Given the description of an element on the screen output the (x, y) to click on. 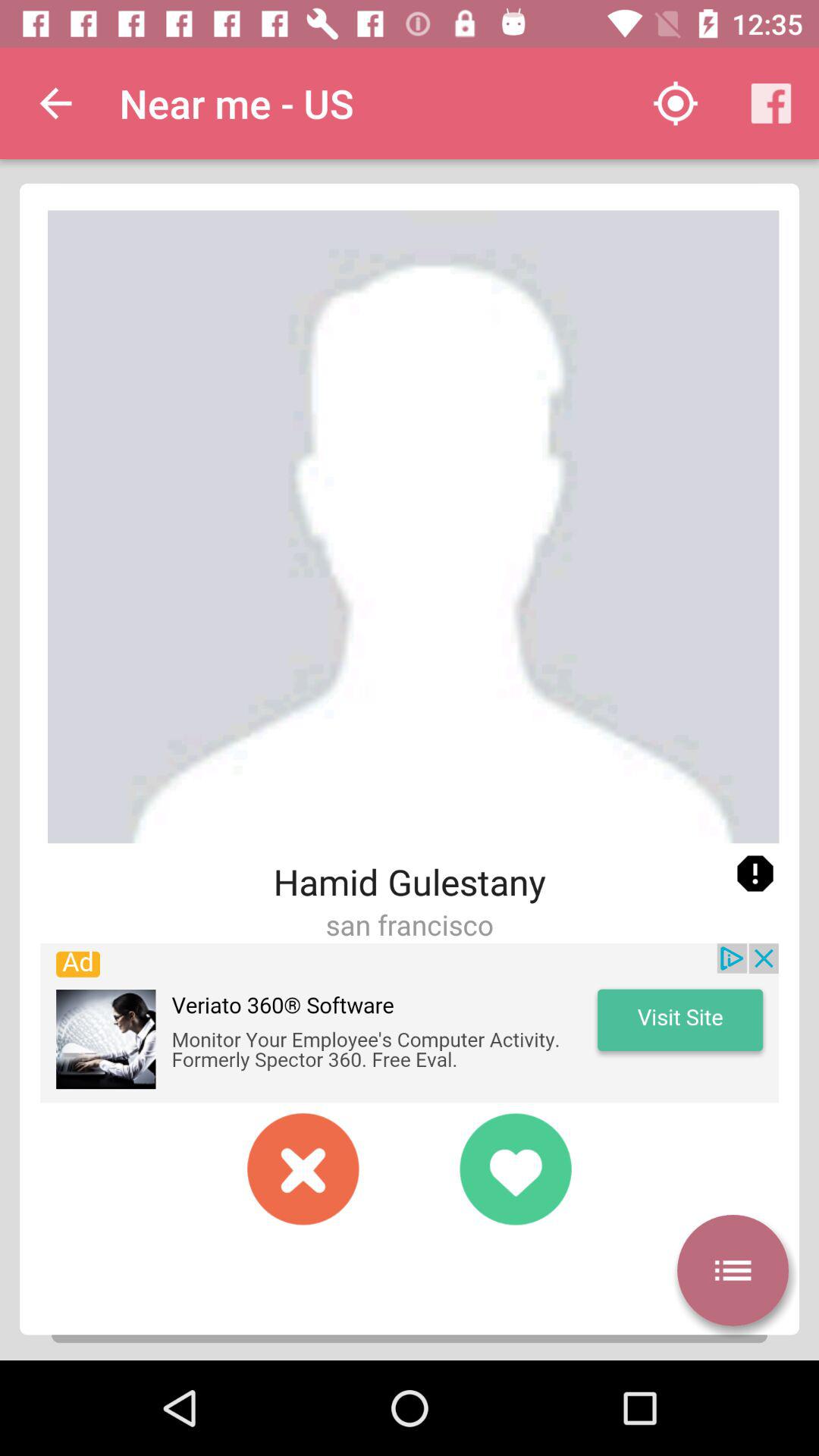
report profile (755, 873)
